Given the description of an element on the screen output the (x, y) to click on. 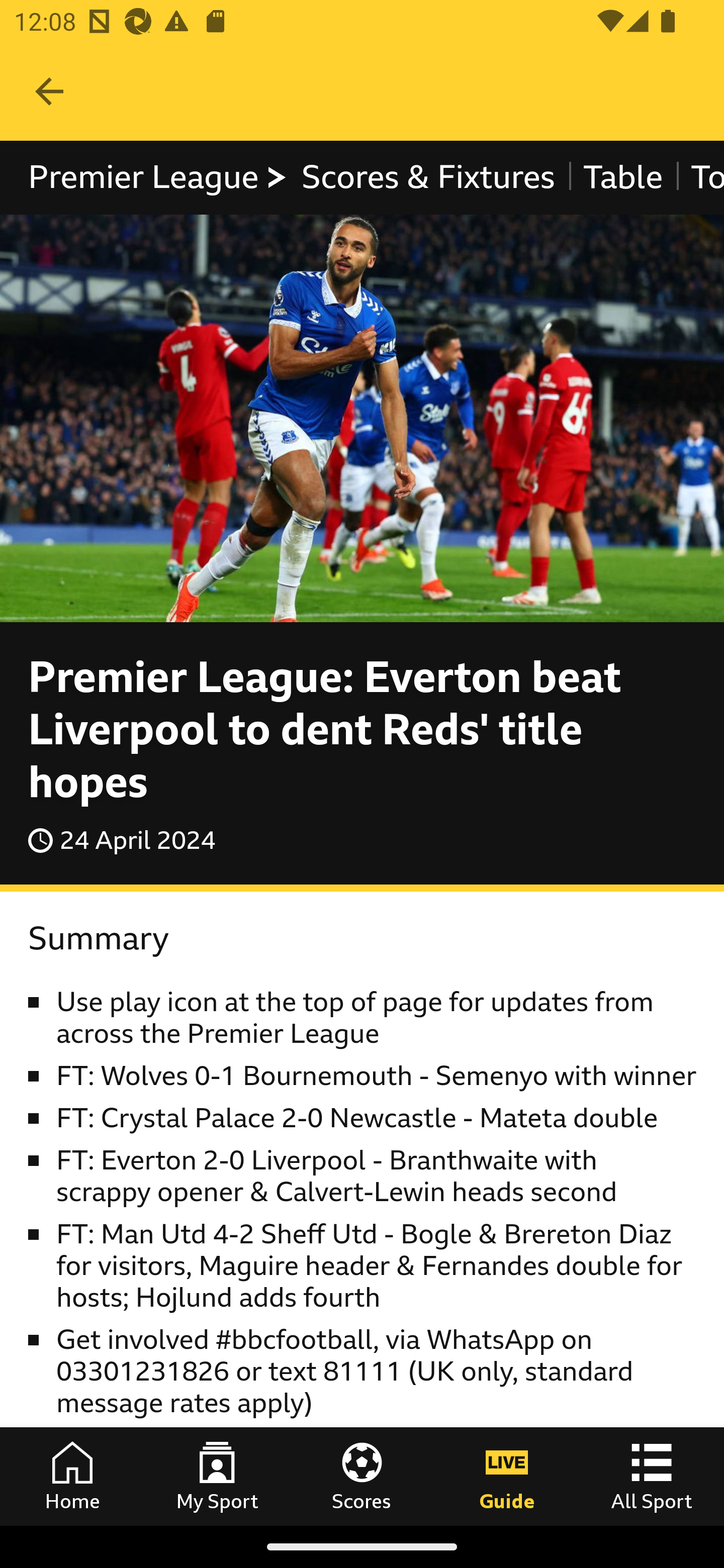
Navigate up (49, 91)
Premier League  (158, 177)
Scores & Fixtures (428, 177)
Table (622, 177)
Home (72, 1475)
My Sport (216, 1475)
Scores (361, 1475)
All Sport (651, 1475)
